Given the description of an element on the screen output the (x, y) to click on. 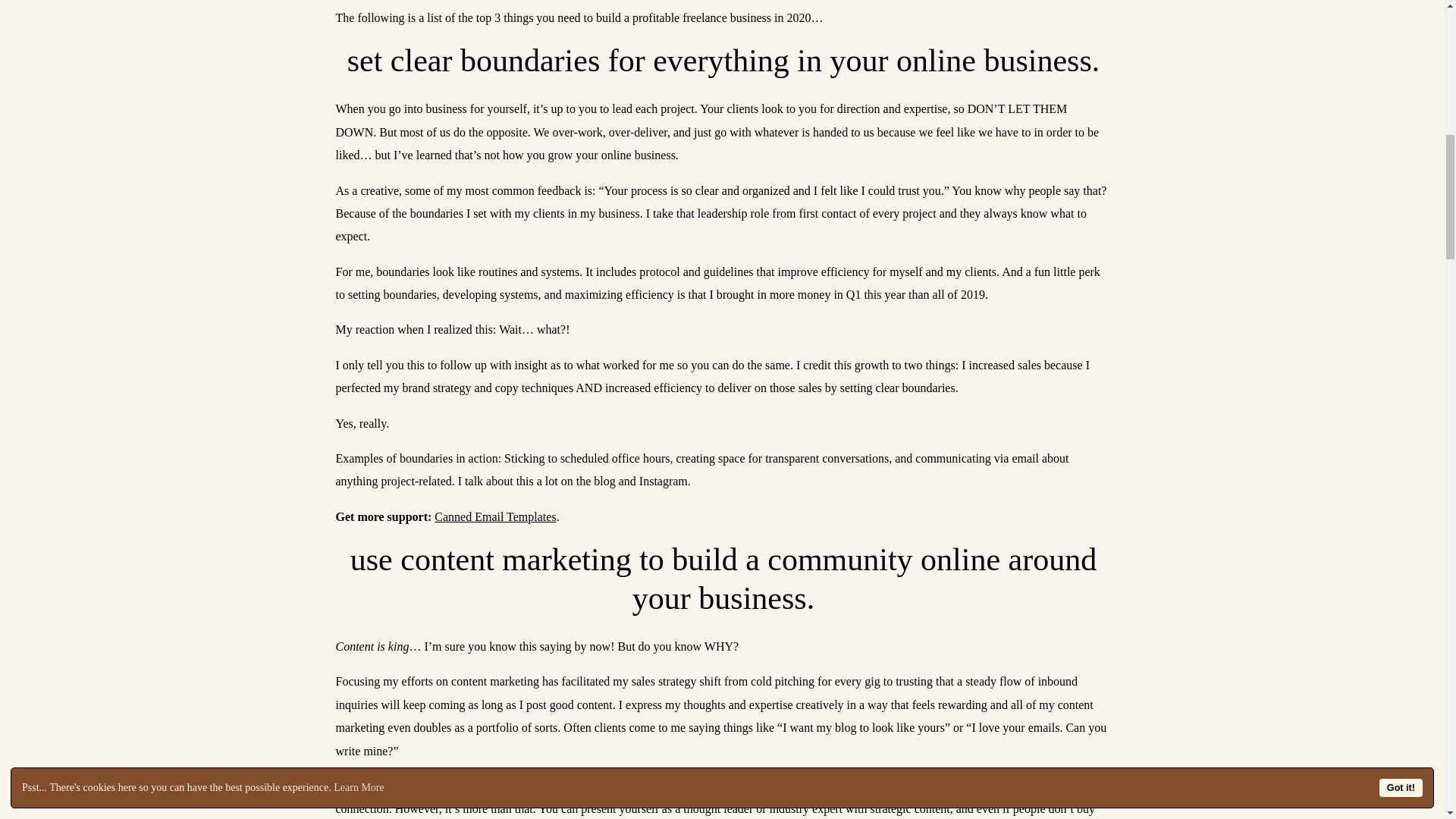
Canned Email Templates (494, 516)
